Given the description of an element on the screen output the (x, y) to click on. 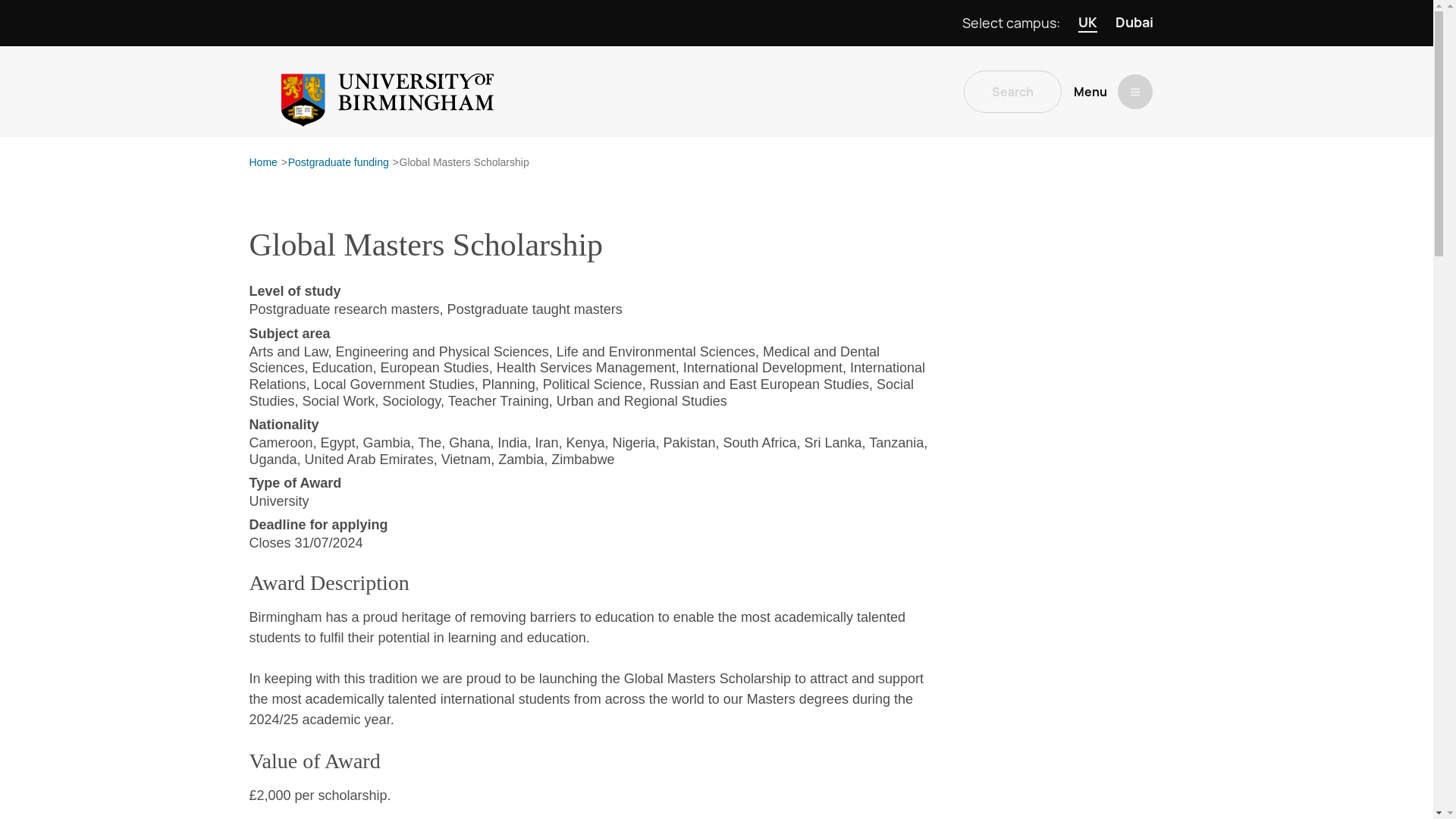
Dubai (1134, 23)
Global Masters Scholarship (463, 163)
Home (262, 163)
Search (1012, 91)
Postgraduate funding (338, 163)
UK (1087, 23)
